Given the description of an element on the screen output the (x, y) to click on. 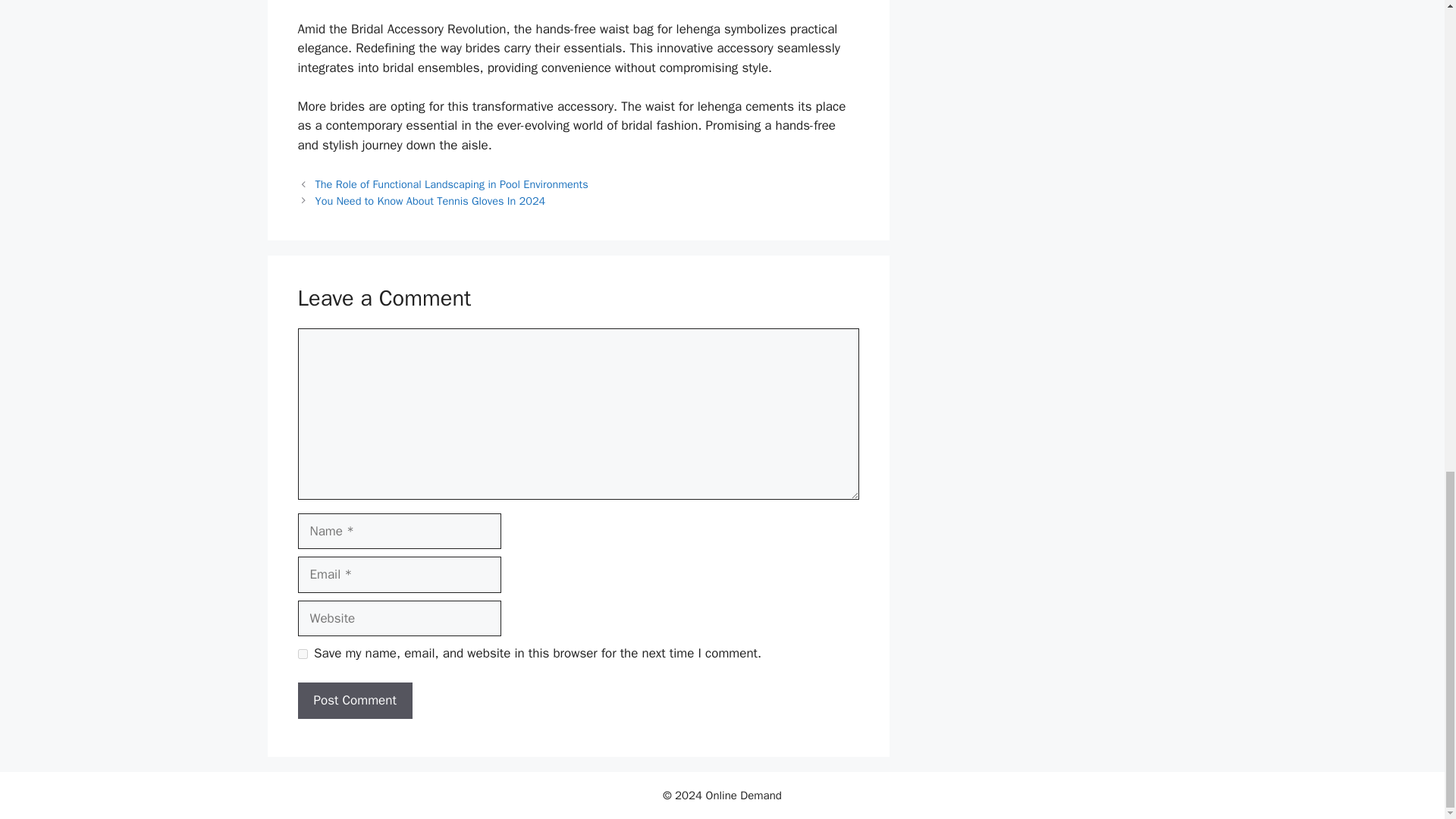
yes (302, 654)
You Need to Know About Tennis Gloves In 2024 (430, 201)
The Role of Functional Landscaping in Pool Environments (451, 183)
Post Comment (354, 700)
Post Comment (354, 700)
